Given the description of an element on the screen output the (x, y) to click on. 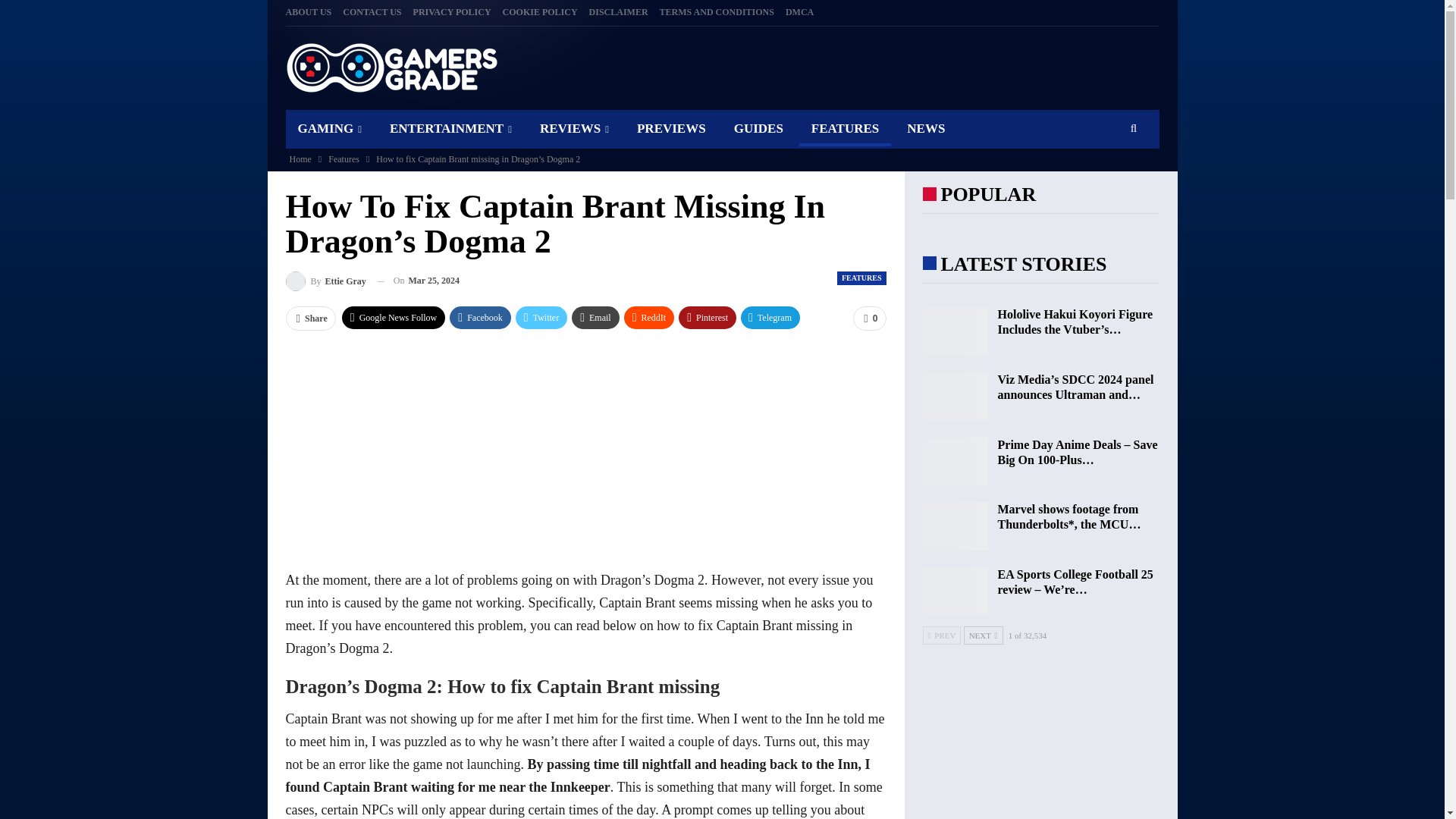
Google News Follow (393, 317)
Features (344, 158)
DMCA (799, 11)
DISCLAIMER (618, 11)
TERMS AND CONDITIONS (716, 11)
GAMING (328, 128)
Email (596, 317)
0 (869, 318)
REVIEWS (574, 128)
ReddIt (649, 317)
FEATURES (845, 128)
Telegram (770, 317)
PREVIEWS (670, 128)
PRIVACY POLICY (452, 11)
By Ettie Gray (325, 281)
